Given the description of an element on the screen output the (x, y) to click on. 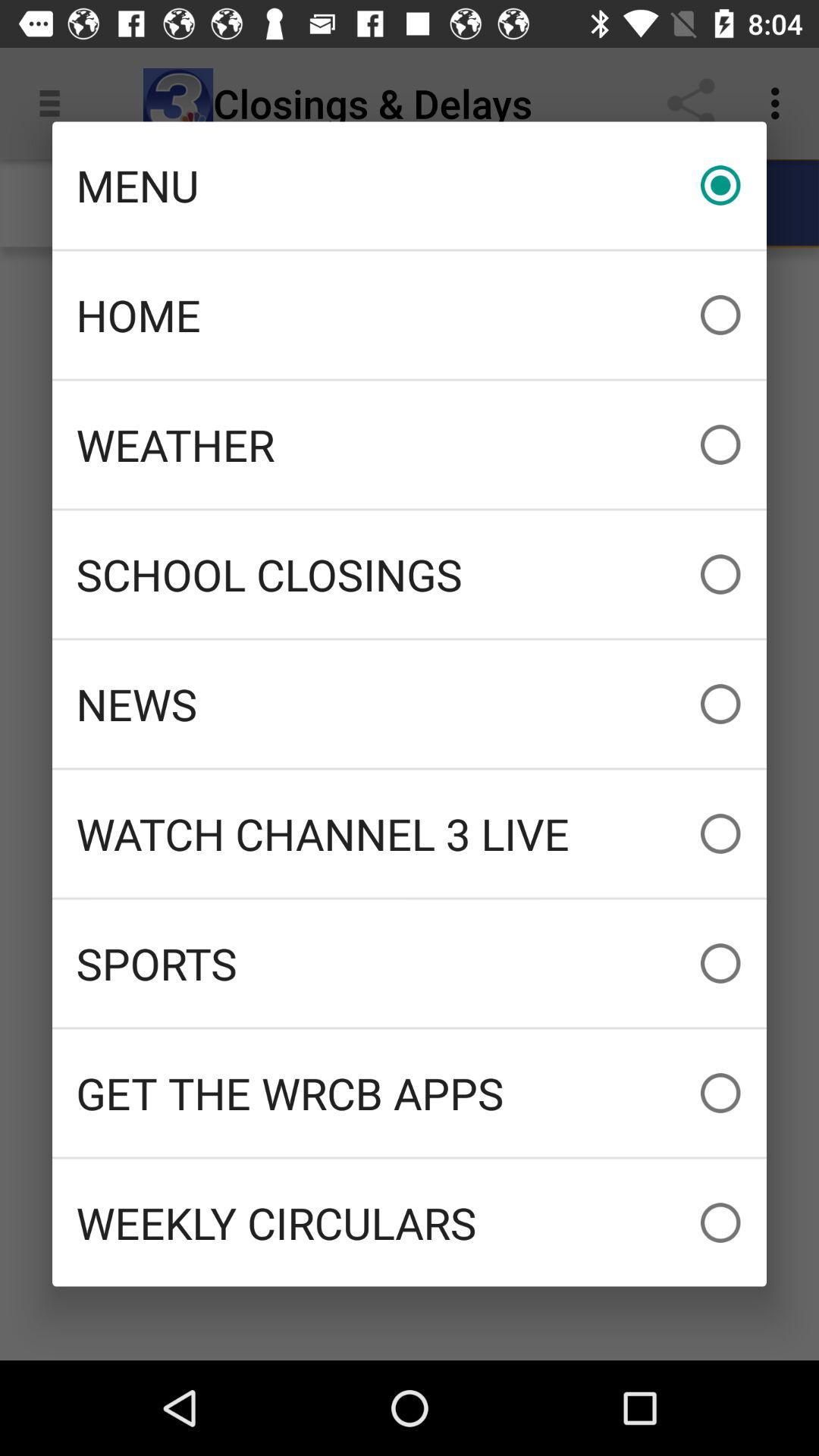
turn off the item above the get the wrcb (409, 963)
